Given the description of an element on the screen output the (x, y) to click on. 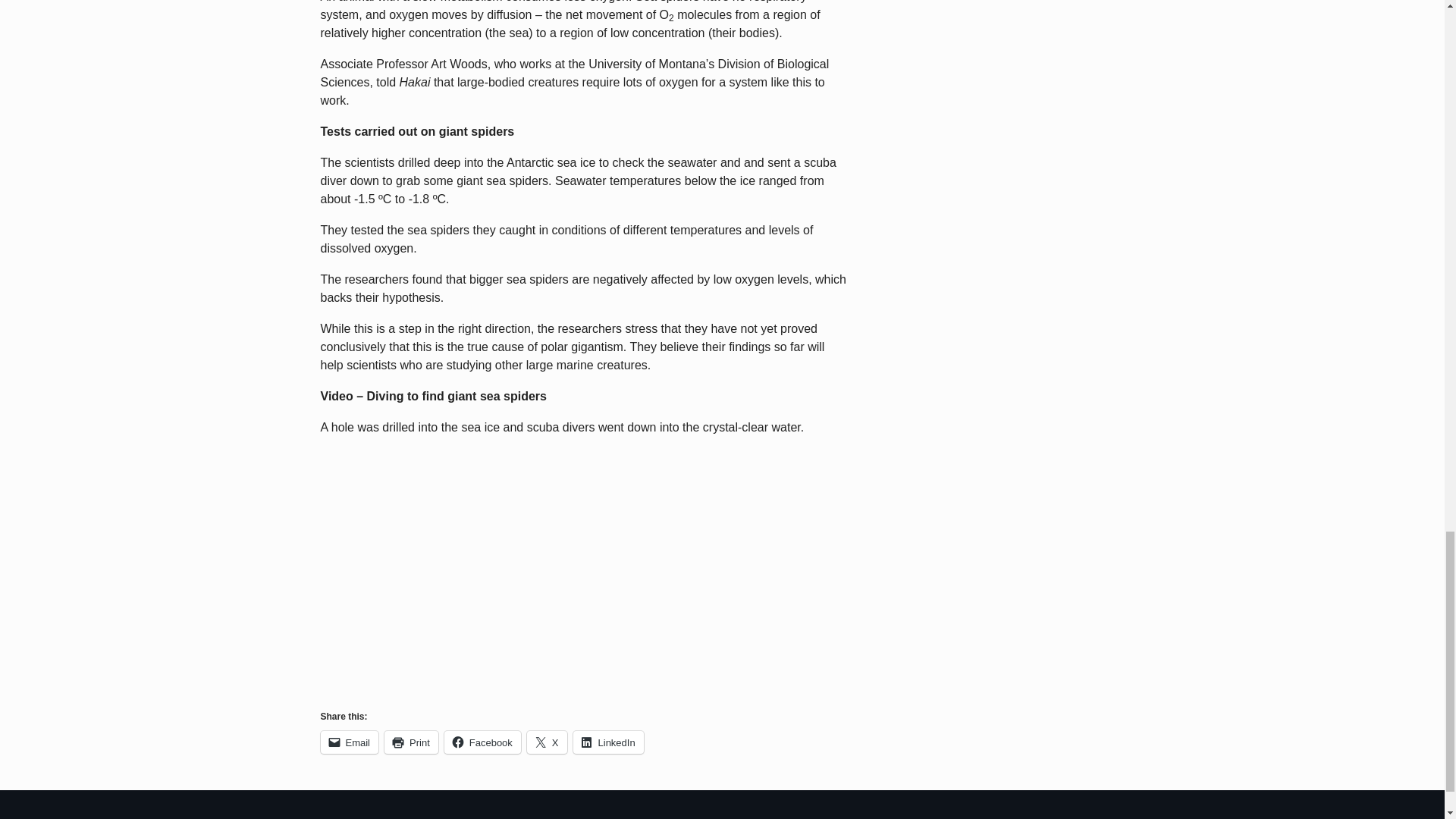
LinkedIn (608, 742)
Click to email a link to a friend (349, 742)
Click to share on LinkedIn (608, 742)
Click to print (411, 742)
Email (349, 742)
X (547, 742)
Click to share on X (547, 742)
Print (411, 742)
Facebook (482, 742)
Click to share on Facebook (482, 742)
